Given the description of an element on the screen output the (x, y) to click on. 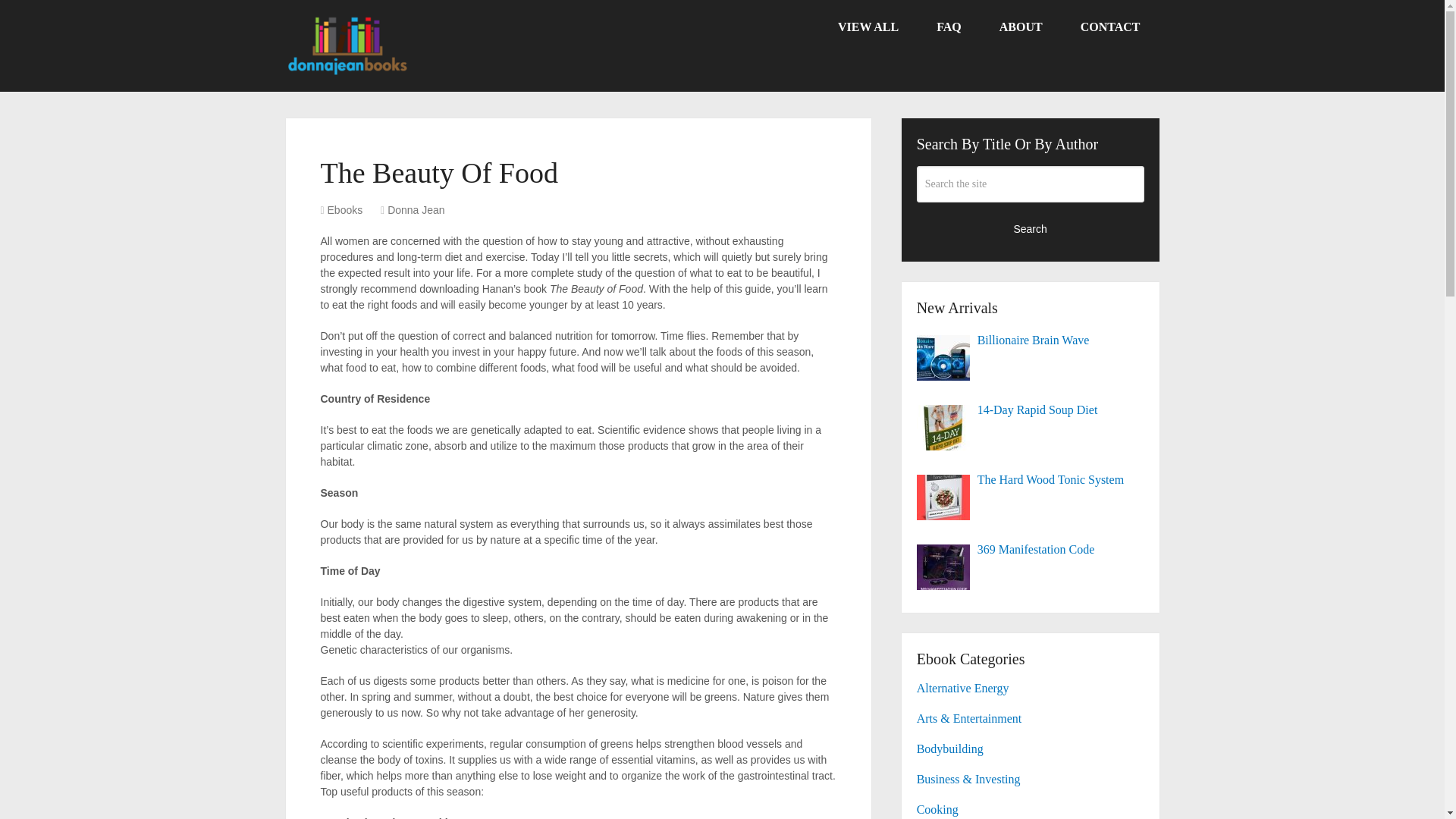
Billionaire Brain Wave (1030, 340)
Search (1030, 227)
VIEW ALL (867, 27)
369 Manifestation Code (1030, 549)
CONTACT (1109, 27)
View all posts in Ebooks (344, 209)
Contact Us (1109, 27)
Posts by Donna Jean (416, 209)
Frequently Asked Questions (948, 27)
Alternative Energy (963, 687)
14-Day Rapid Soup Diet (1030, 410)
The Hard Wood Tonic System (1030, 479)
ABOUT (1020, 27)
Bodybuilding (950, 748)
About Donna Jean Books (1020, 27)
